Given the description of an element on the screen output the (x, y) to click on. 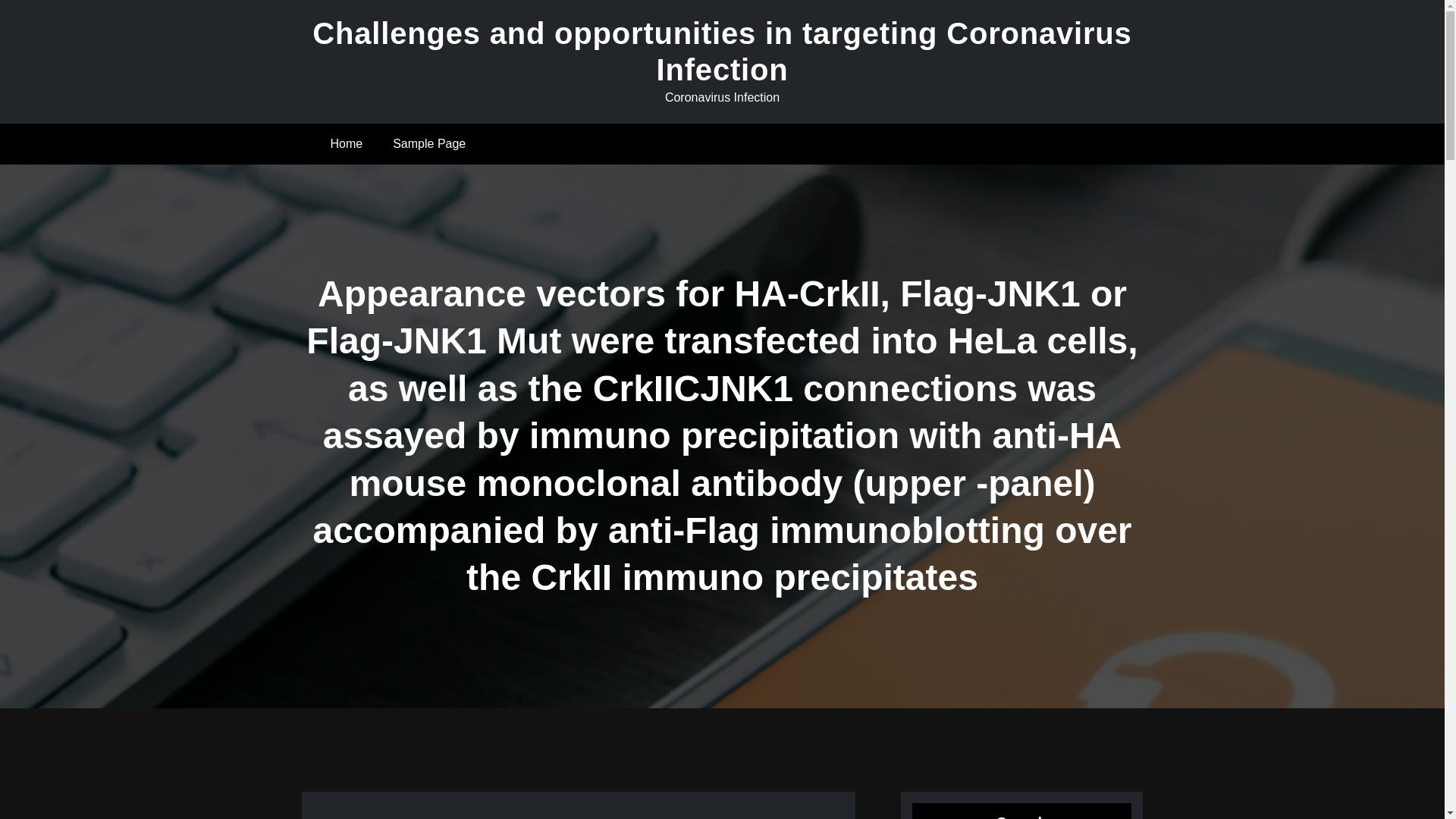
Home (346, 144)
Home (346, 144)
Sample Page (428, 144)
